Given the description of an element on the screen output the (x, y) to click on. 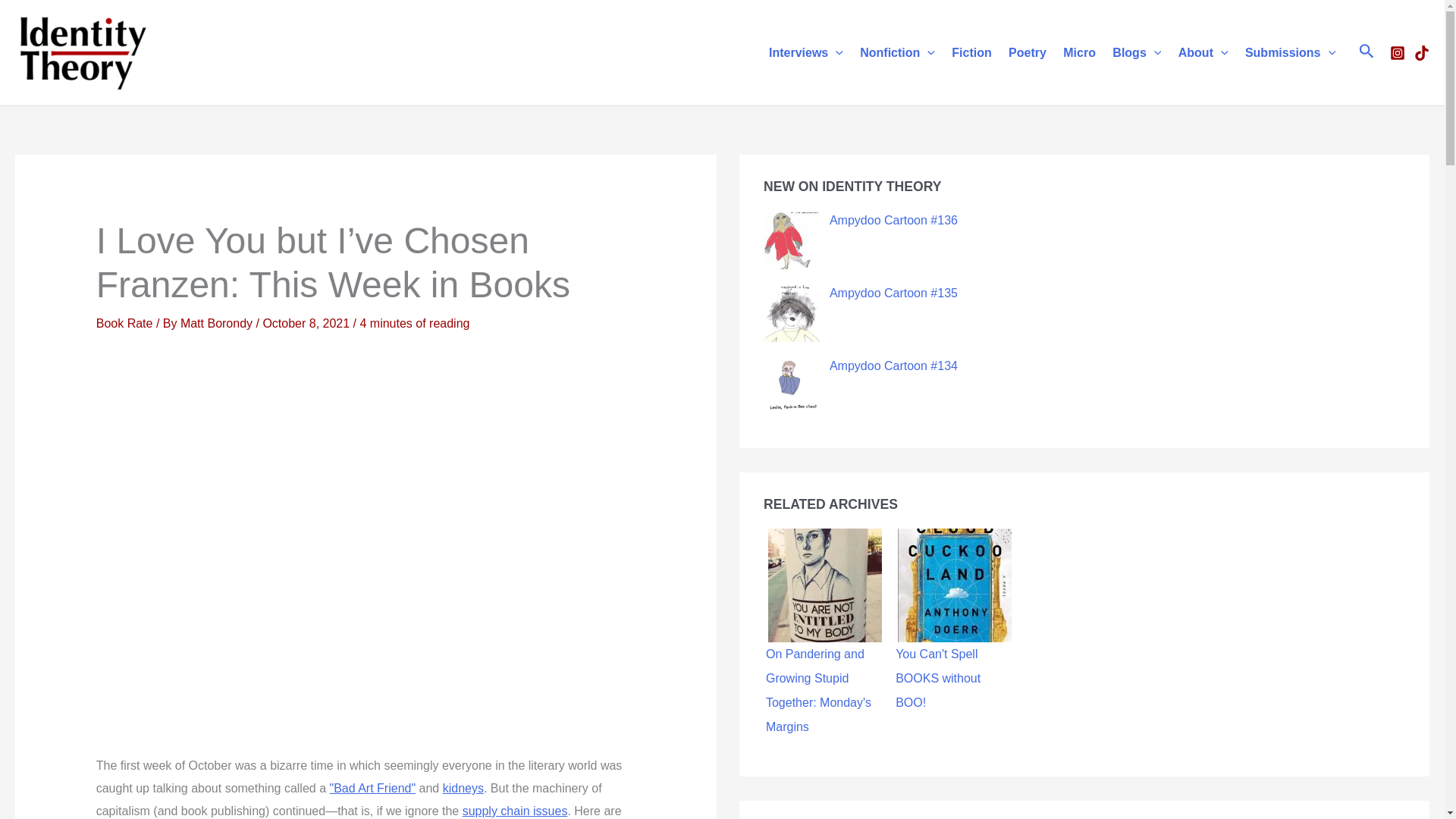
View all posts by Matt Borondy (218, 323)
You Can't Spell BOOKS without BOO! (954, 585)
Interviews (805, 51)
Nonfiction (897, 51)
On Pandering and Growing Stupid Together: Monday's Margins (825, 585)
Submissions (1289, 51)
About (1203, 51)
Blogs (1136, 51)
